Given the description of an element on the screen output the (x, y) to click on. 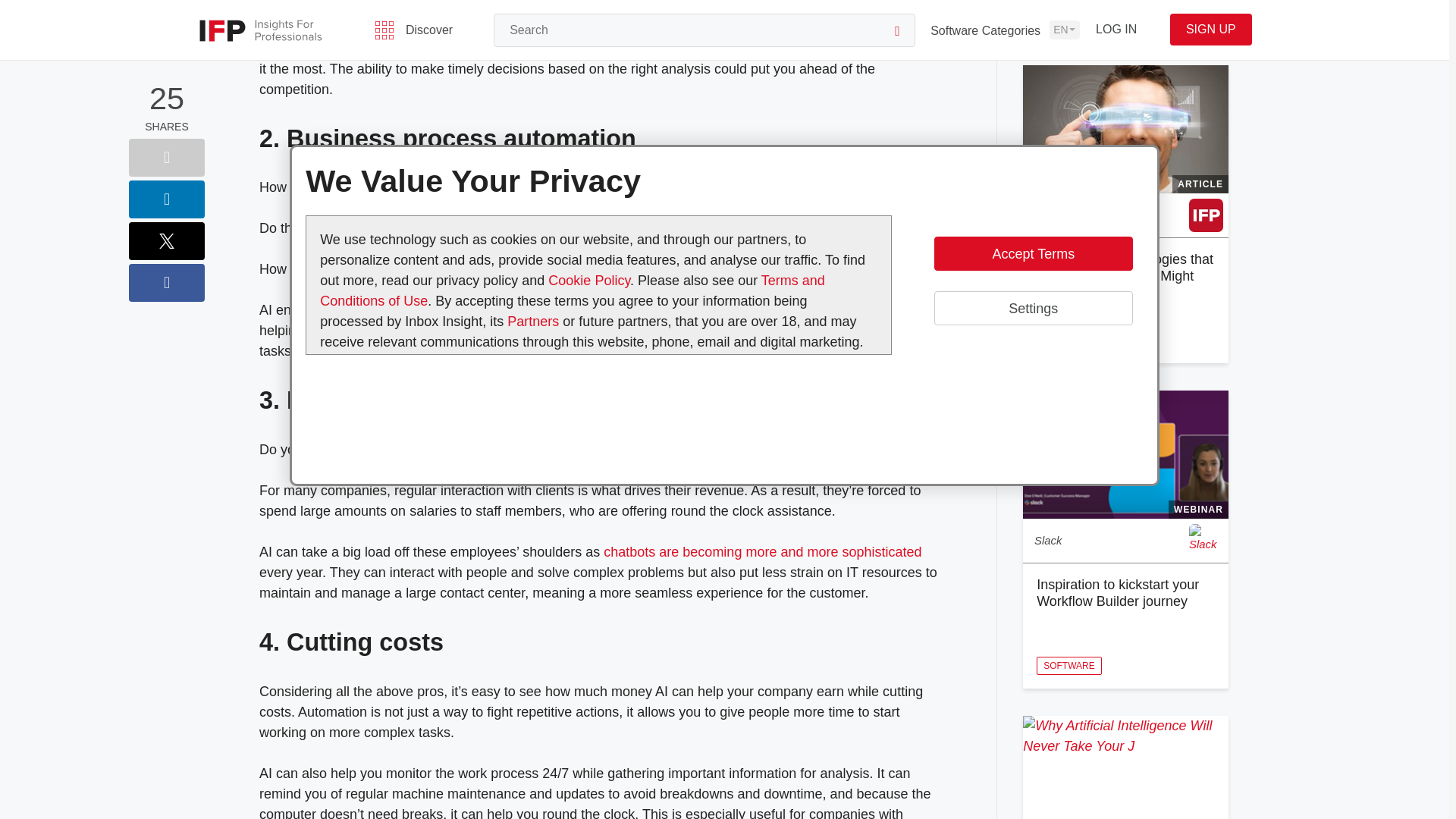
How to Train Your Chatbot to Deal With Customer Queries (762, 551)
Inspiration to kickstart your Workflow Builder journey (1117, 593)
The 7 Benefits of Business Process Automation (415, 309)
